Given the description of an element on the screen output the (x, y) to click on. 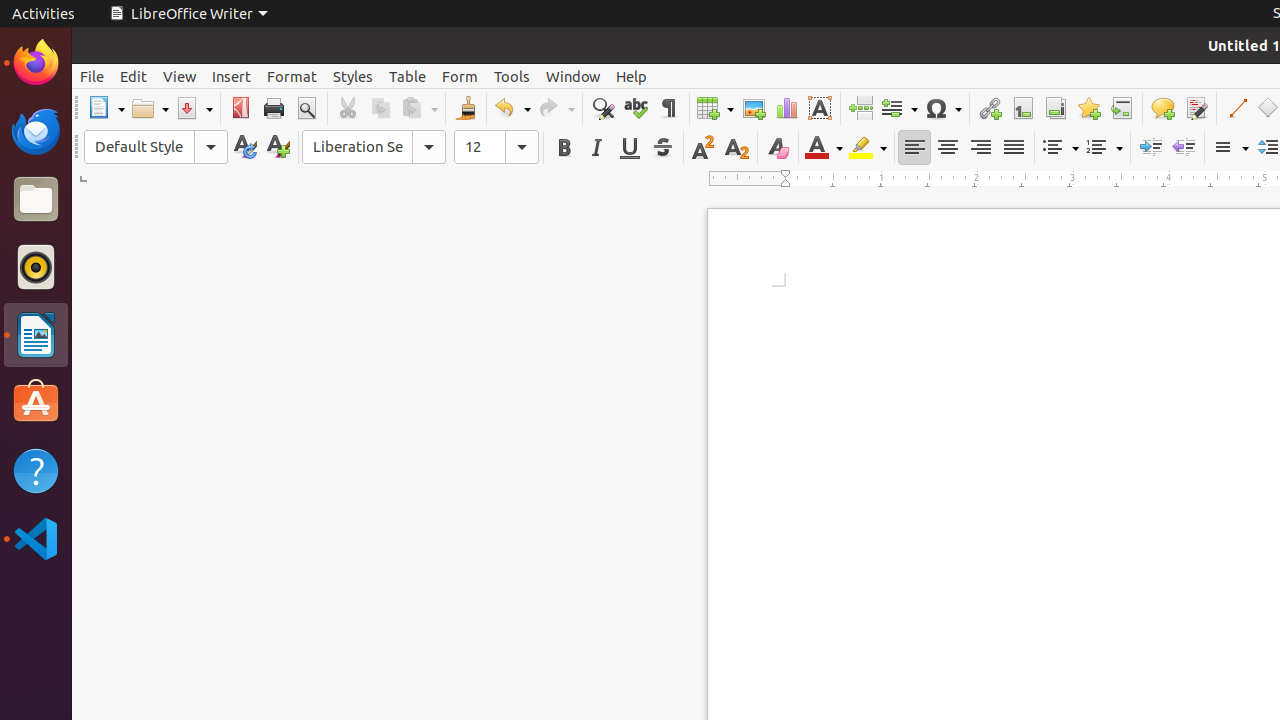
Open Element type: push-button (150, 108)
Font Name Element type: combo-box (374, 147)
Comment Element type: push-button (1162, 108)
LibreOffice Writer Element type: menu (188, 13)
Paste Element type: push-button (419, 108)
